Given the description of an element on the screen output the (x, y) to click on. 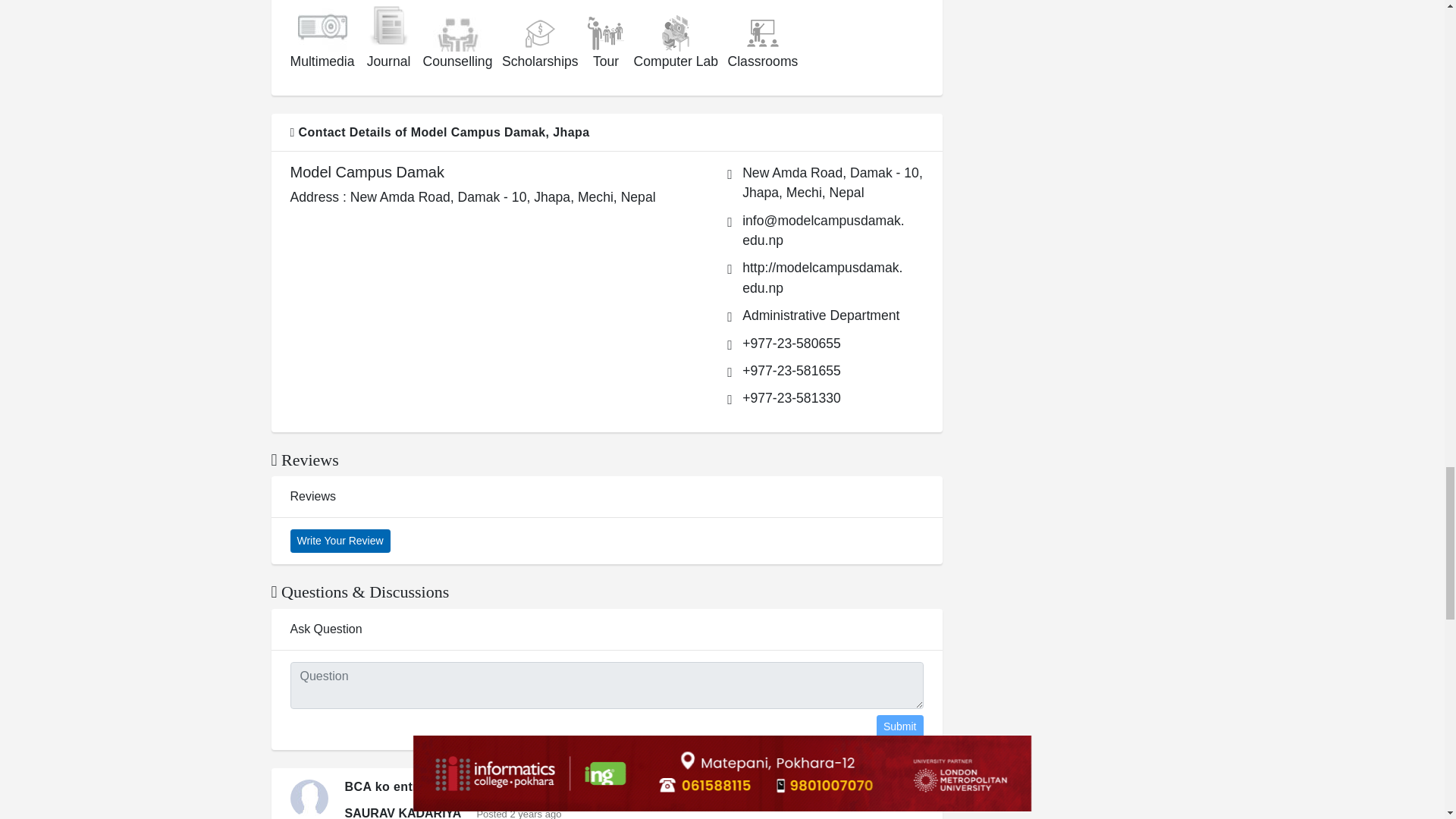
Multimedia (322, 26)
Scholarship (539, 33)
Counselling (456, 34)
Tour (606, 33)
IT Infrastructure (676, 33)
Online Journal (388, 26)
Classrooms (762, 33)
